Given the description of an element on the screen output the (x, y) to click on. 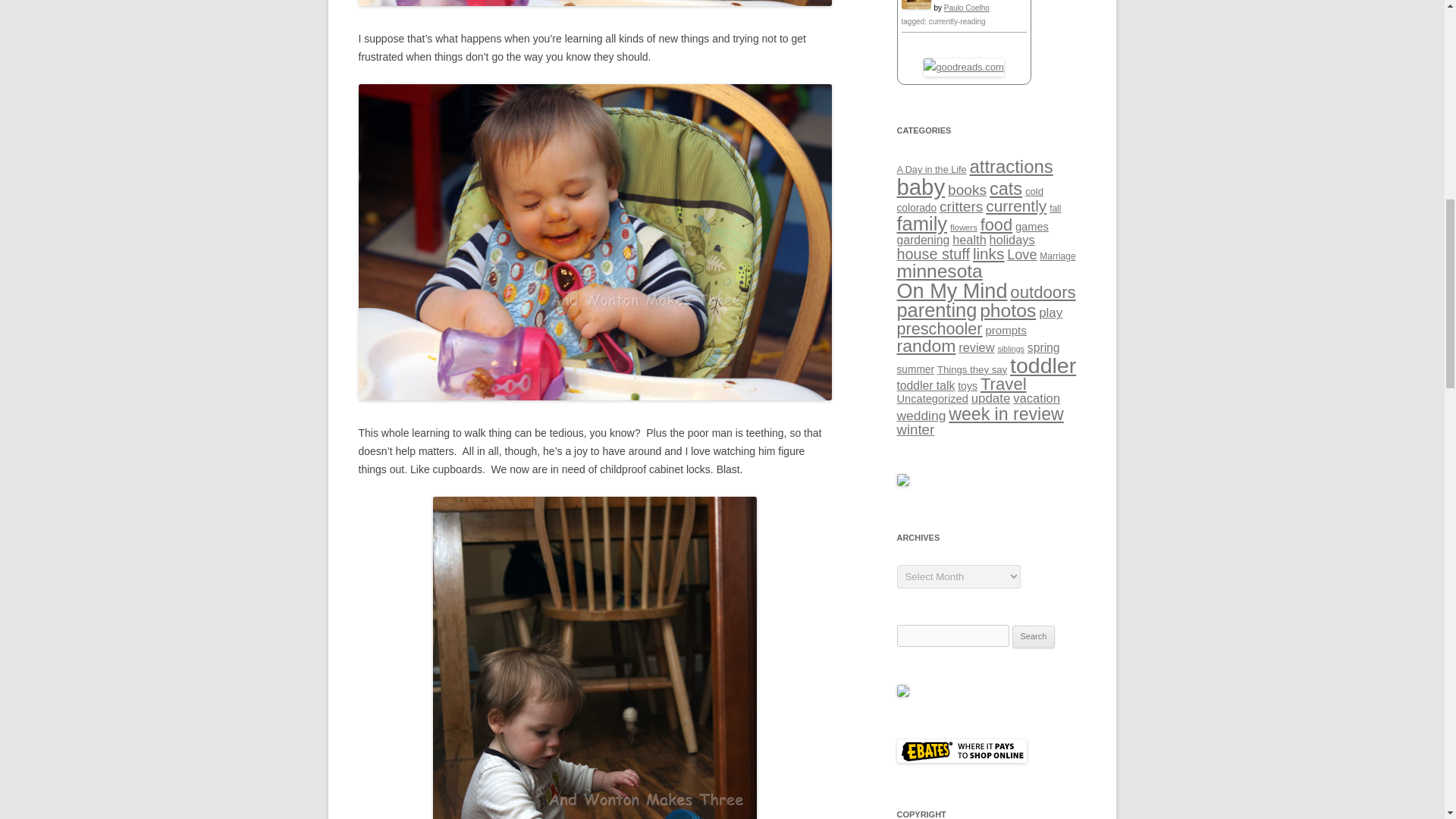
Search (1033, 636)
The Alchemist: A Graphic Novel (915, 5)
books (967, 189)
A Day in the Life (931, 169)
Paulo Coelho (966, 8)
attractions (1010, 166)
baby (920, 186)
